Given the description of an element on the screen output the (x, y) to click on. 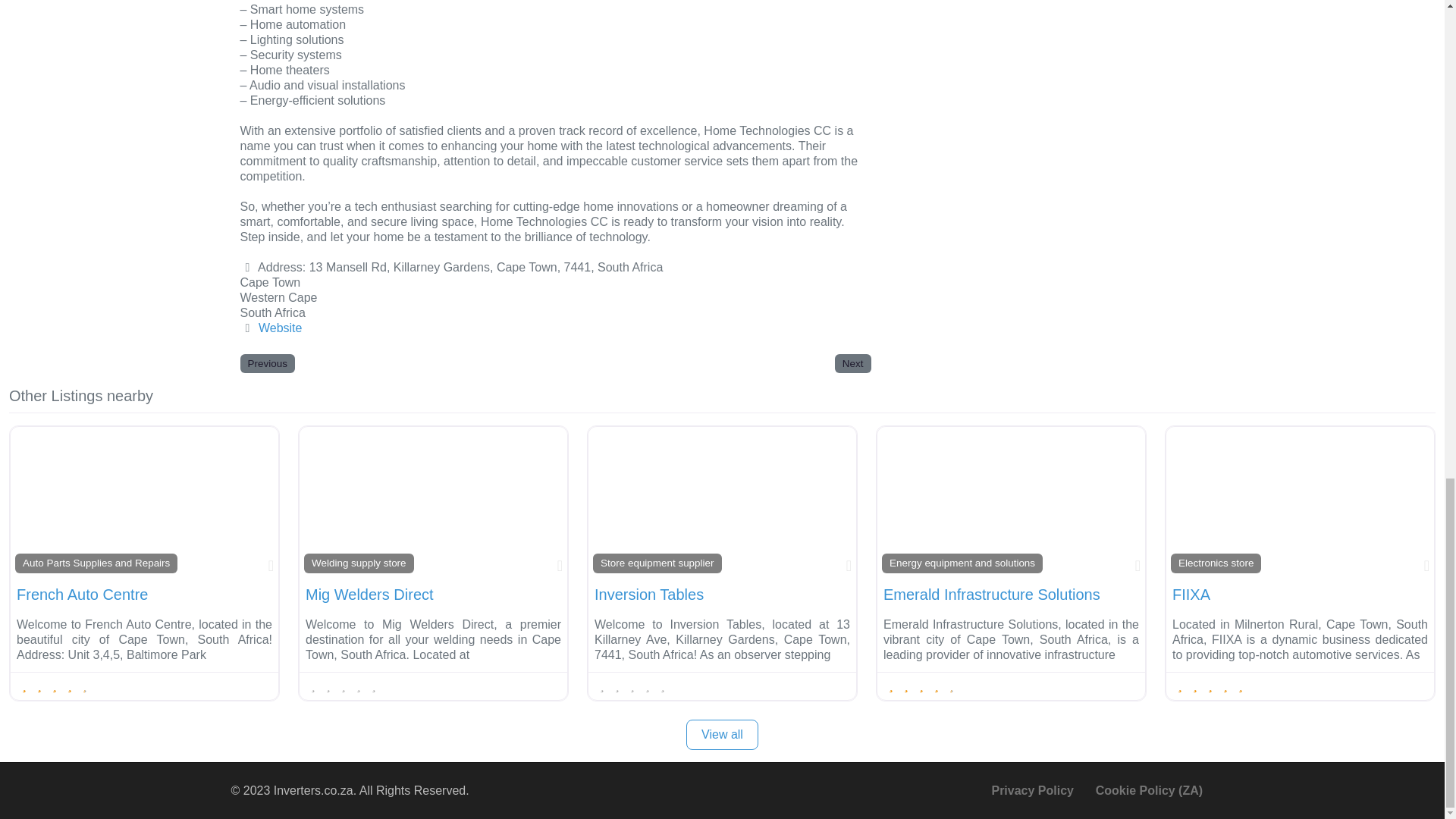
Previous (267, 363)
French Auto Centre (82, 594)
Mig Welders Direct (369, 594)
Welding supply store (358, 562)
Store equipment supplier (657, 562)
Website (280, 327)
Next (852, 363)
Auto Parts Supplies and Repairs (95, 562)
